Given the description of an element on the screen output the (x, y) to click on. 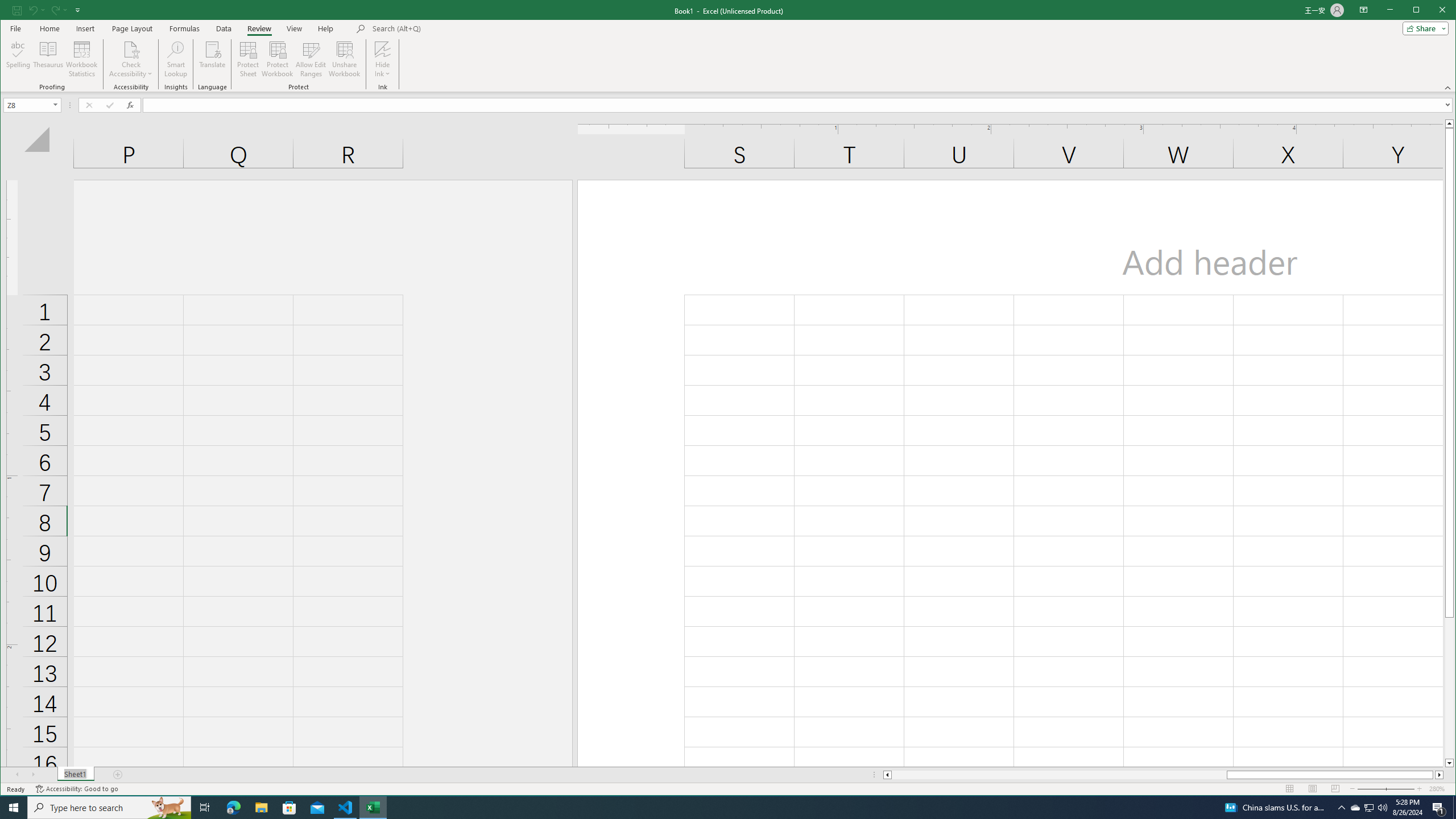
Running applications (717, 807)
Formula Bar (799, 104)
Search highlights icon opens search home window (167, 807)
Type here to search (108, 807)
Quick Access Toolbar (46, 9)
Close (1444, 11)
View (294, 28)
Maximize (1432, 11)
User Promoted Notification Area (1368, 807)
